Given the description of an element on the screen output the (x, y) to click on. 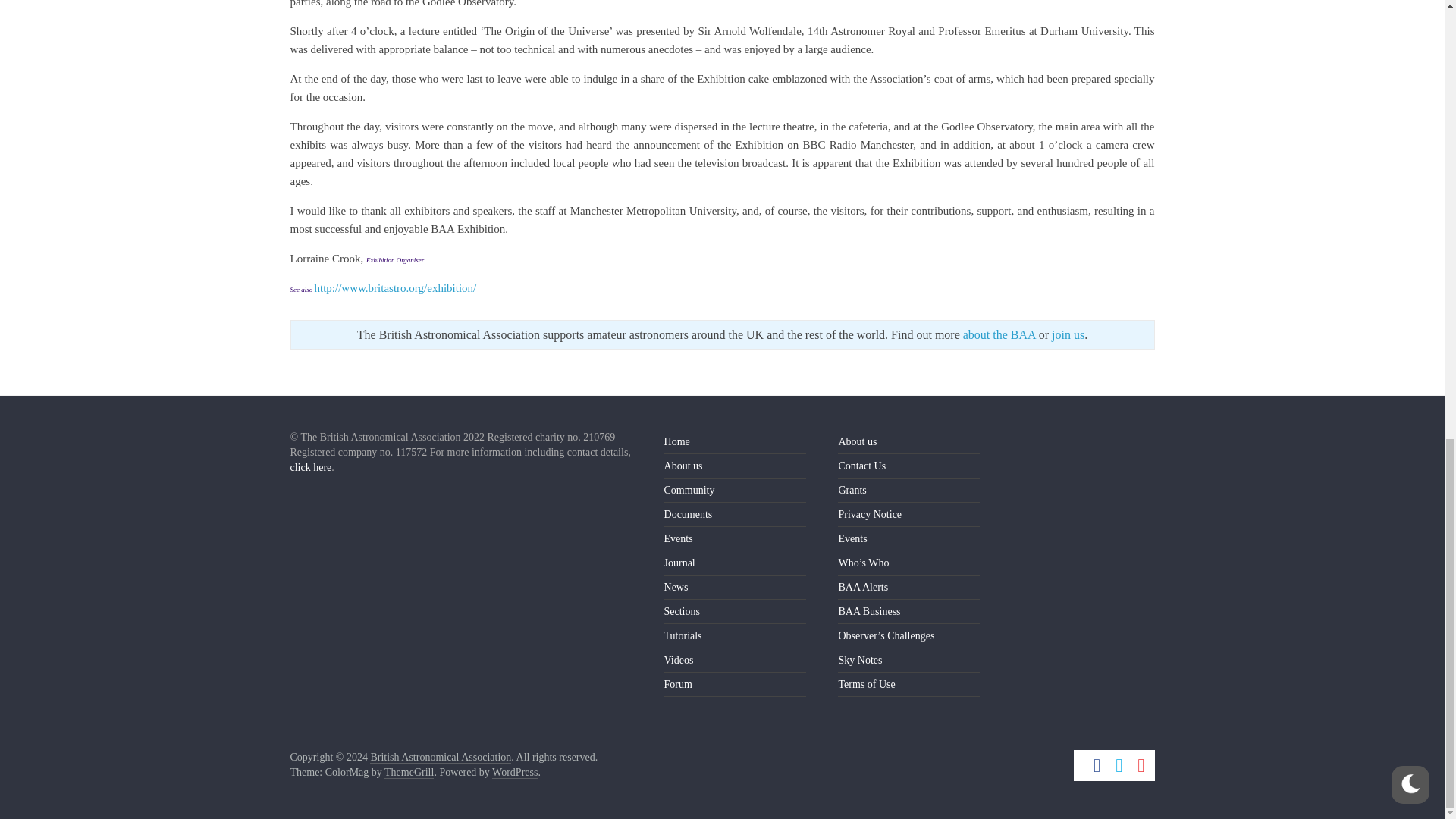
British Astronomical Association (440, 757)
WordPress (514, 772)
ThemeGrill (408, 772)
